Given the description of an element on the screen output the (x, y) to click on. 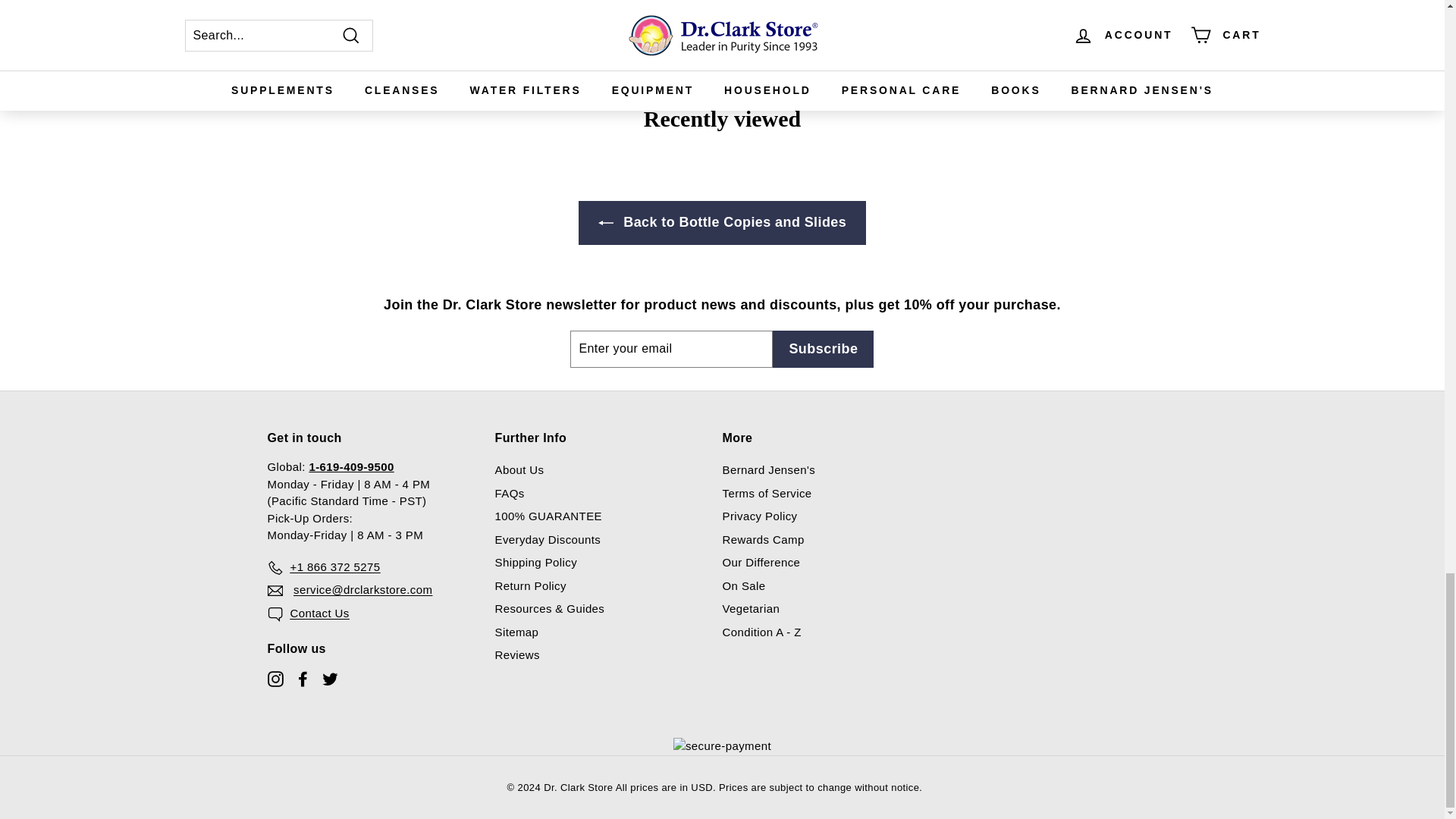
Dr. Clark Store on Twitter (329, 678)
Dr. Clark Store on Instagram (274, 678)
Dr. Clark Store on Facebook (302, 678)
